Given the description of an element on the screen output the (x, y) to click on. 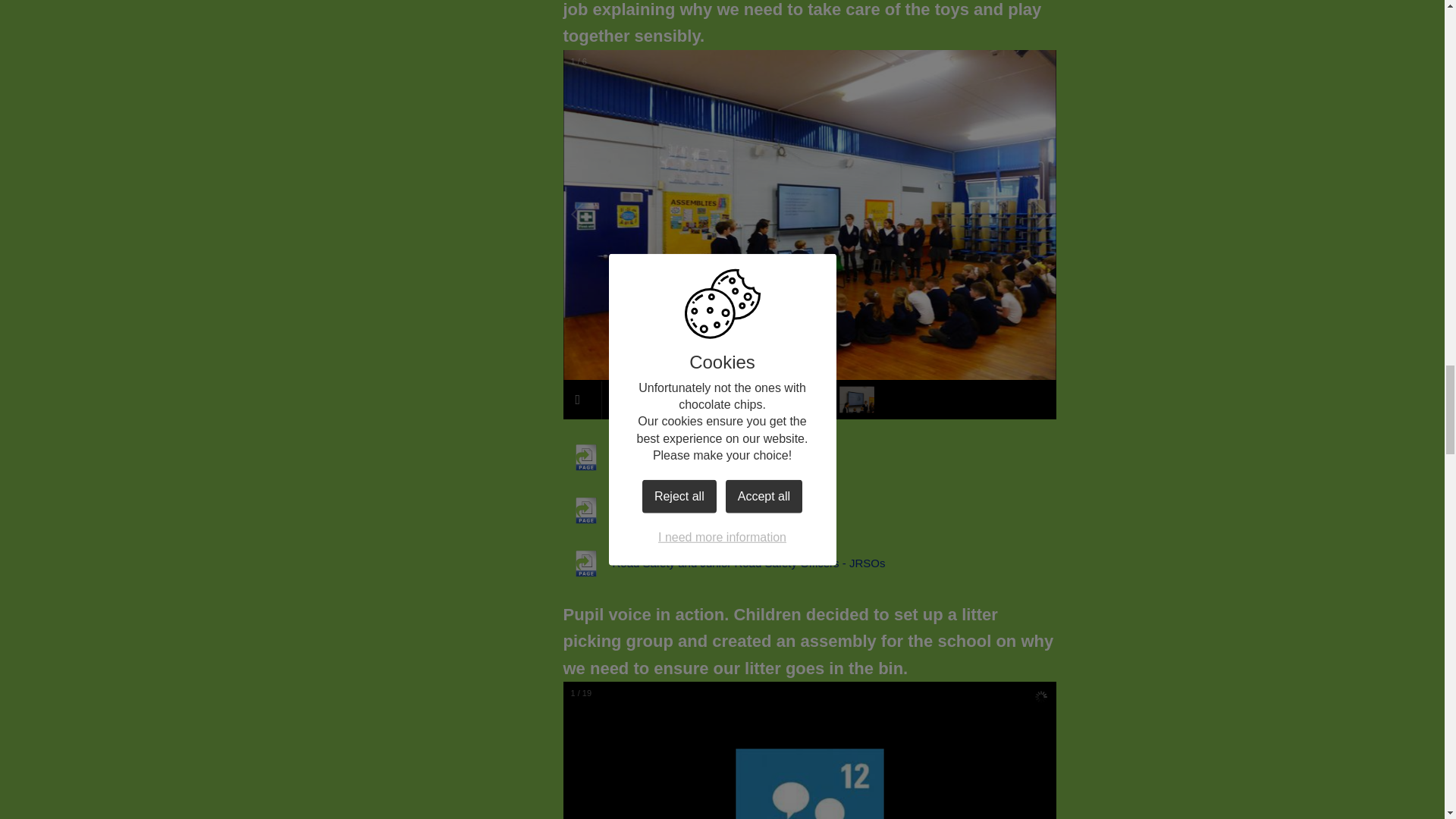
School Council (624, 456)
Road Safety and Junior Road Safety Officers - JRSOs (723, 563)
JOSOs (604, 510)
